Given the description of an element on the screen output the (x, y) to click on. 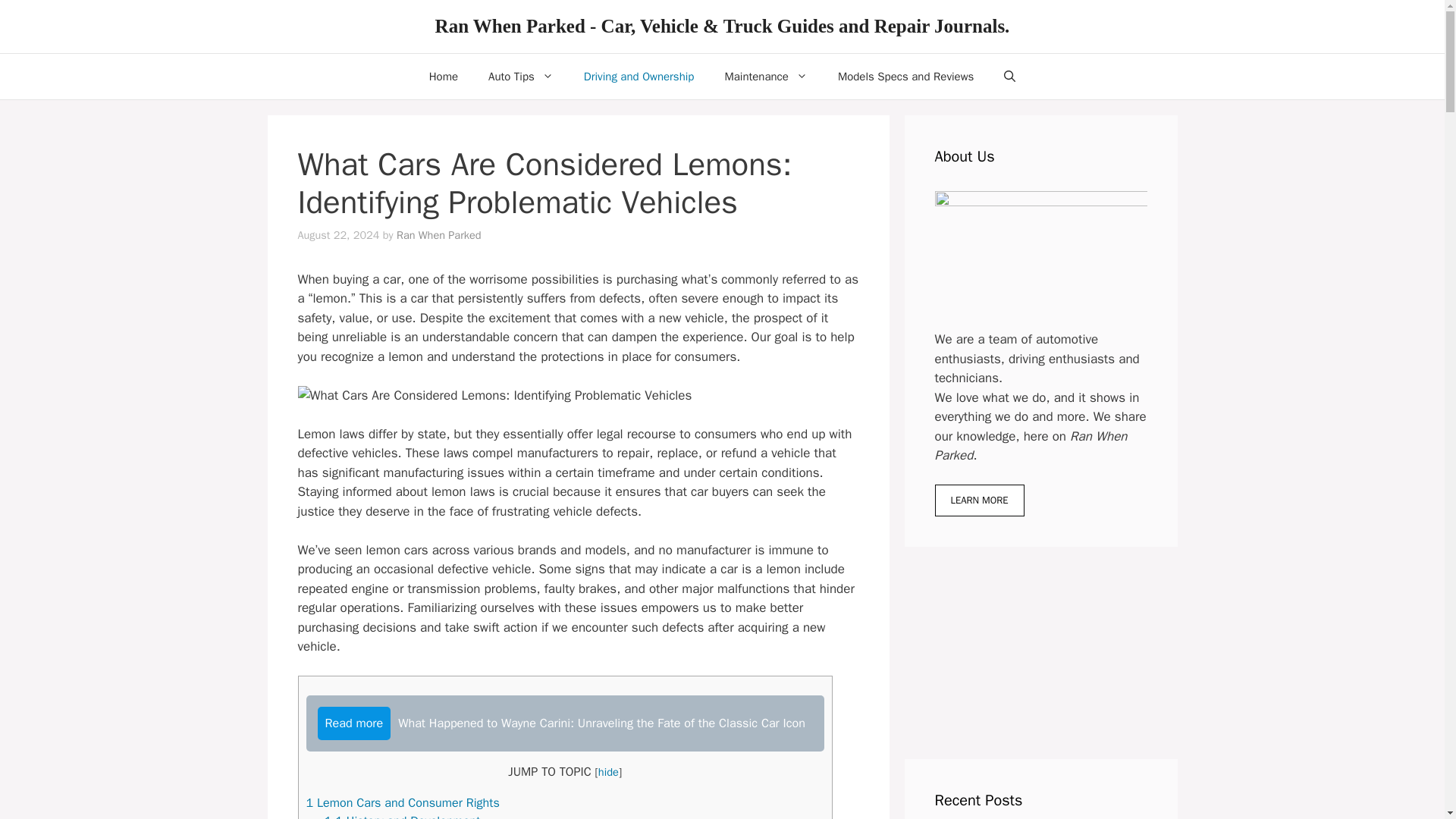
Maintenance (765, 76)
1.1 History and Development (402, 816)
1 Lemon Cars and Consumer Rights (402, 802)
Driving and Ownership (639, 76)
Auto Tips (521, 76)
Home (443, 76)
View all posts by Ran When Parked (438, 234)
hide (608, 771)
Ran When Parked (438, 234)
